Given the description of an element on the screen output the (x, y) to click on. 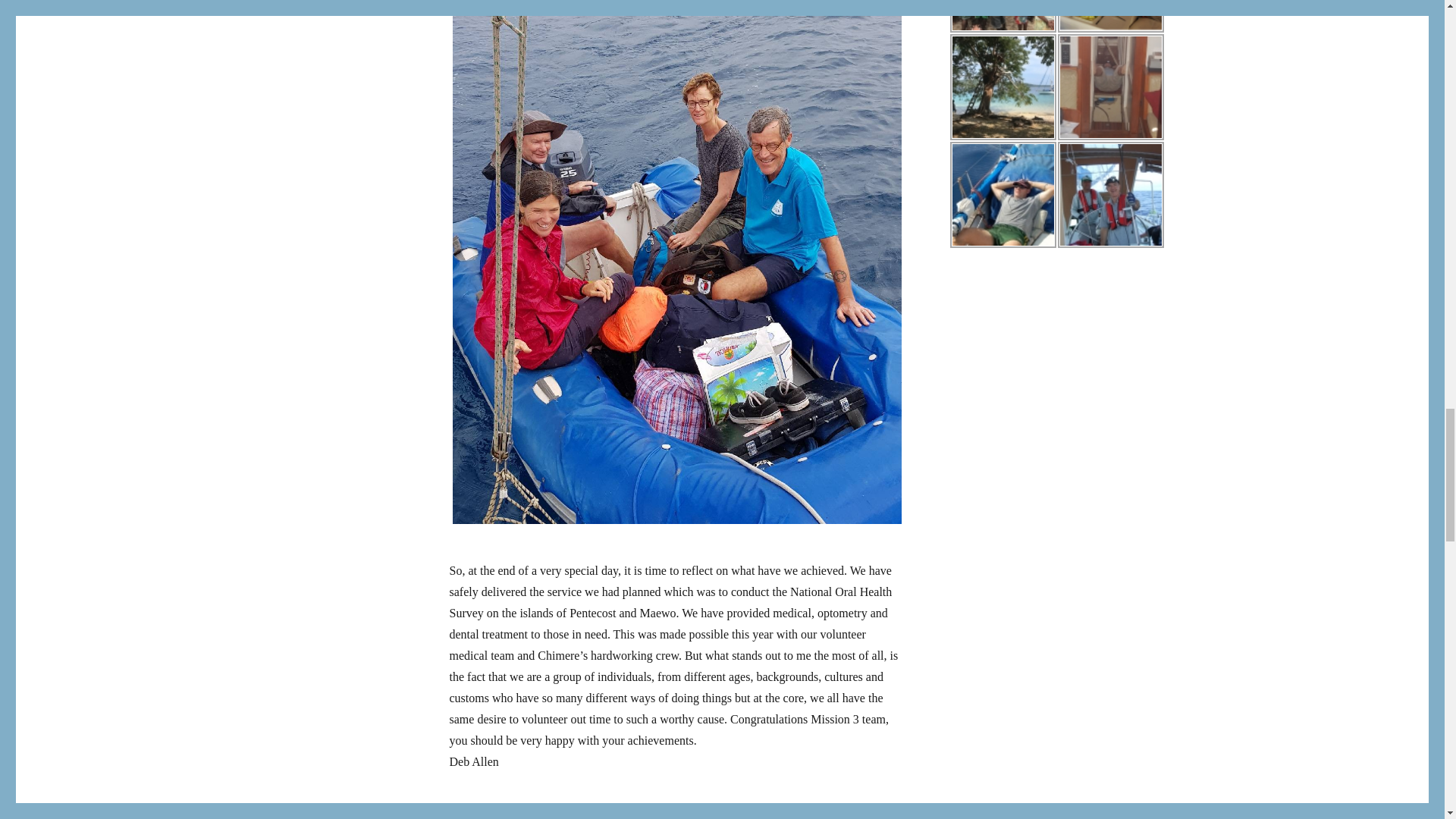
Ureparapara3 (1002, 16)
